Given the description of an element on the screen output the (x, y) to click on. 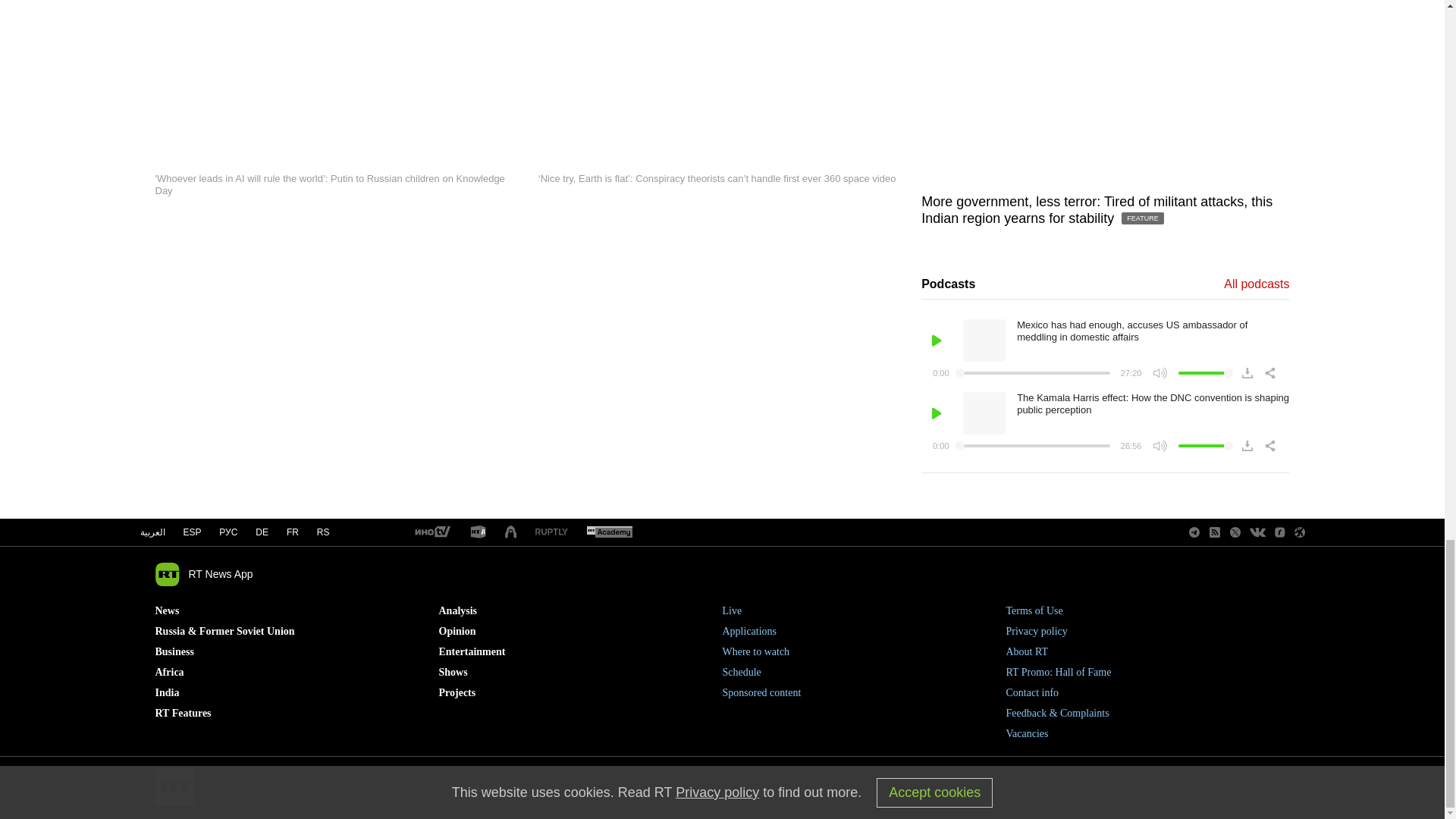
RT  (431, 532)
RT  (478, 532)
RT  (608, 532)
RT  (551, 532)
